Given the description of an element on the screen output the (x, y) to click on. 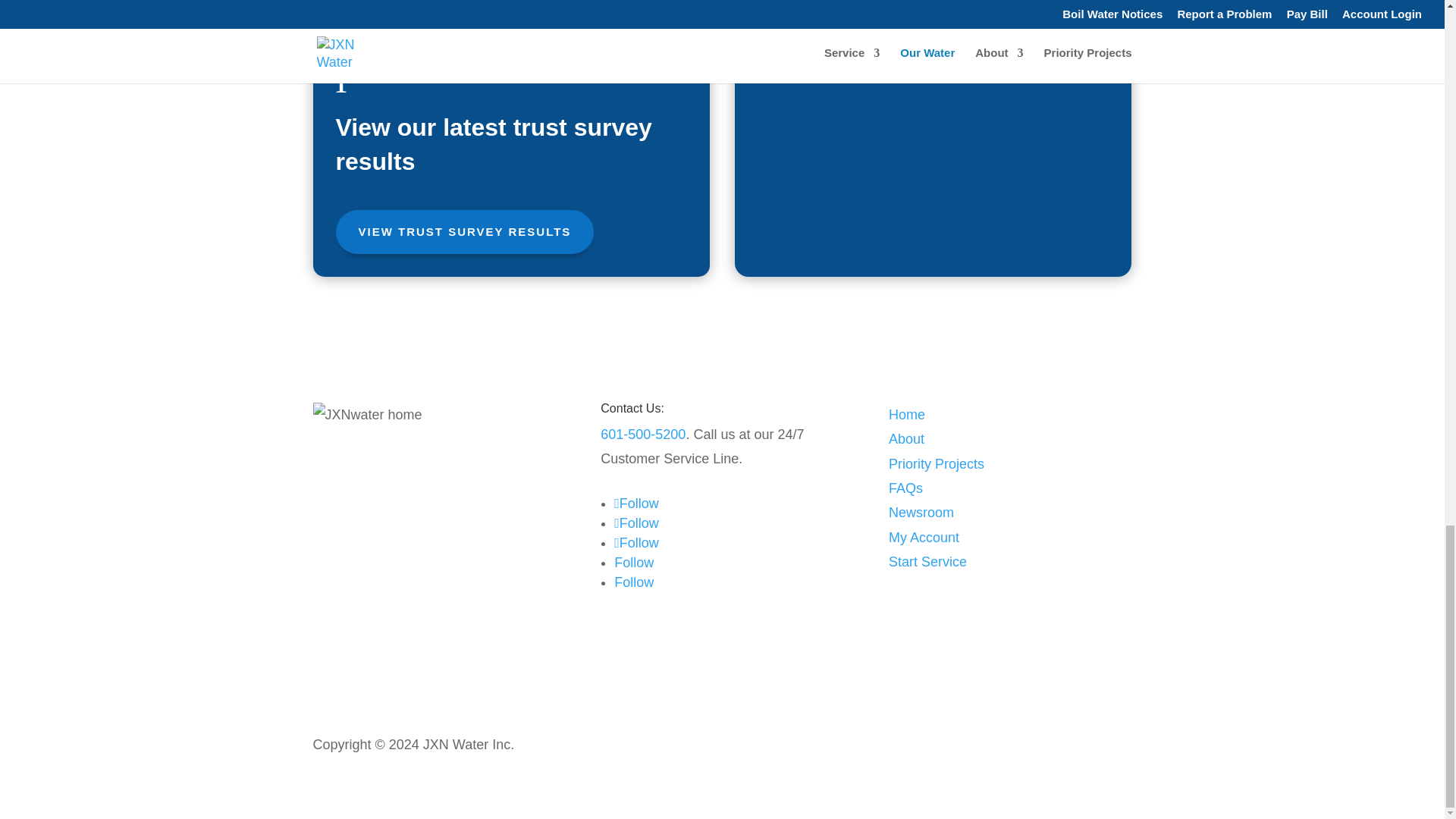
Follow on Facebook (636, 522)
Follow (636, 542)
Follow (633, 562)
Follow (636, 503)
Priority Projects (936, 463)
Follow on Instagram (636, 503)
Follow on  (633, 581)
FAQs (905, 488)
Start Service (927, 561)
Newsroom (920, 512)
